Given the description of an element on the screen output the (x, y) to click on. 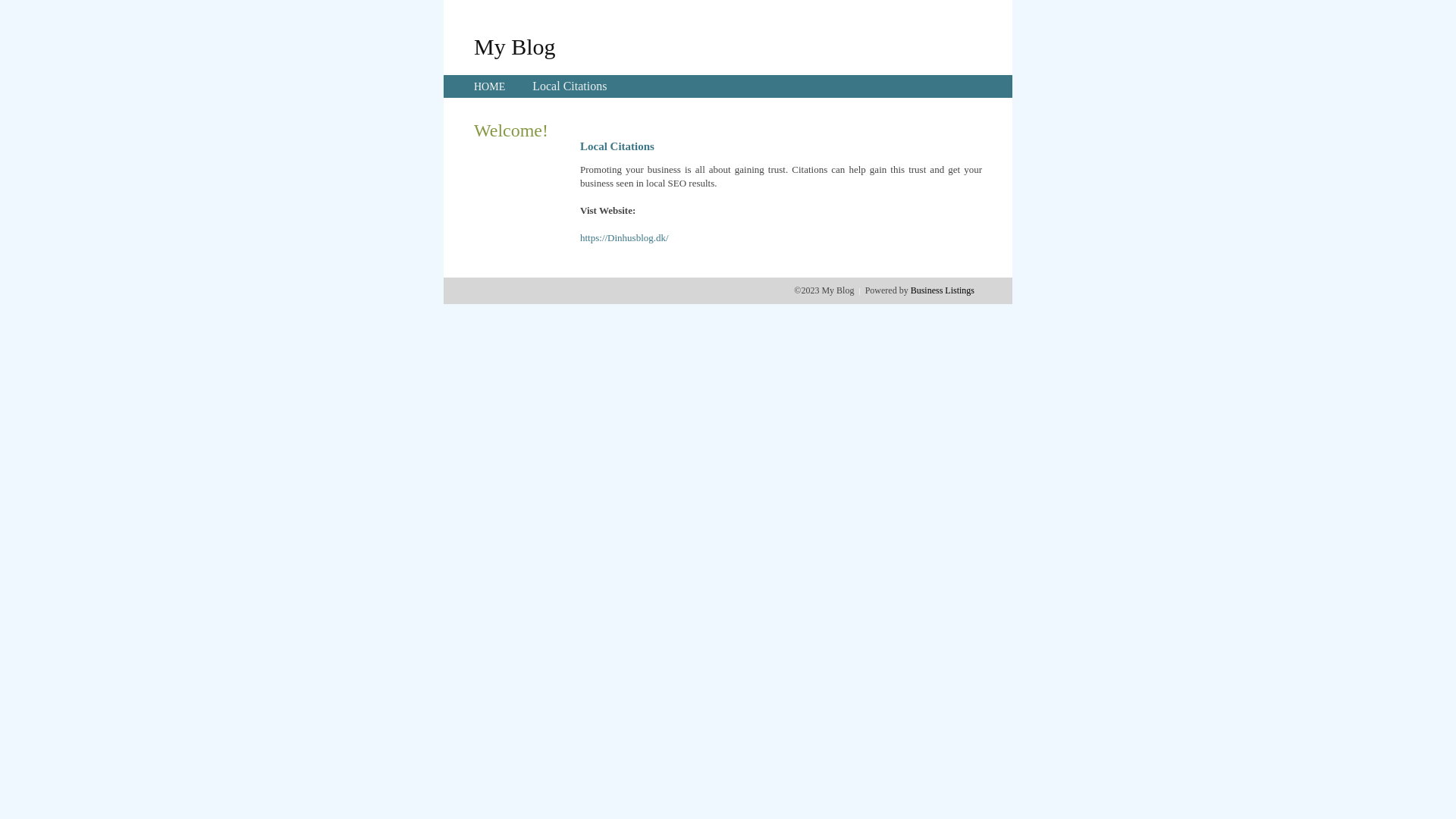
https://Dinhusblog.dk/ Element type: text (624, 237)
Local Citations Element type: text (569, 85)
HOME Element type: text (489, 86)
Business Listings Element type: text (942, 290)
My Blog Element type: text (514, 46)
